Given the description of an element on the screen output the (x, y) to click on. 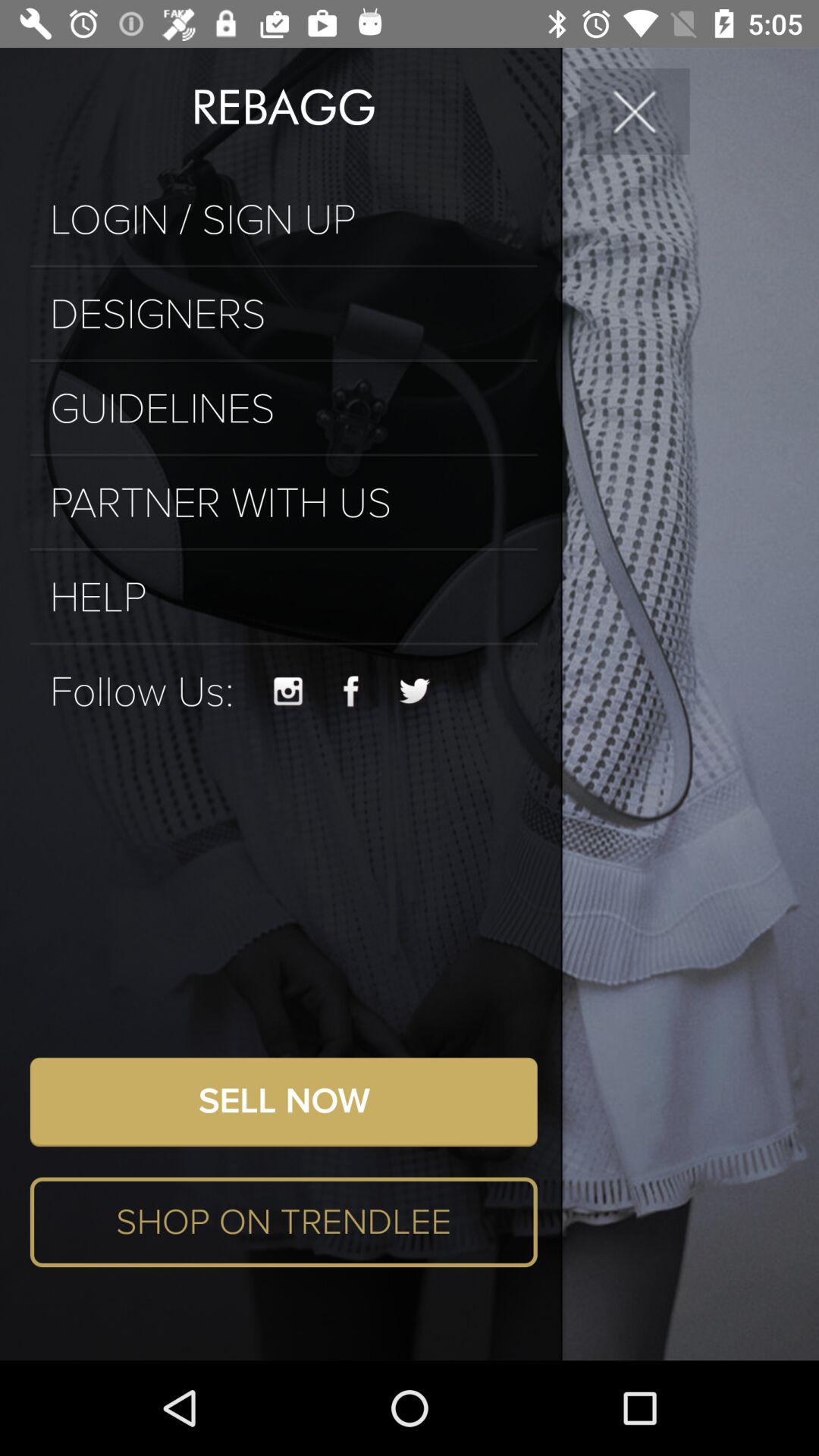
turn off icon on the left (141, 692)
